Given the description of an element on the screen output the (x, y) to click on. 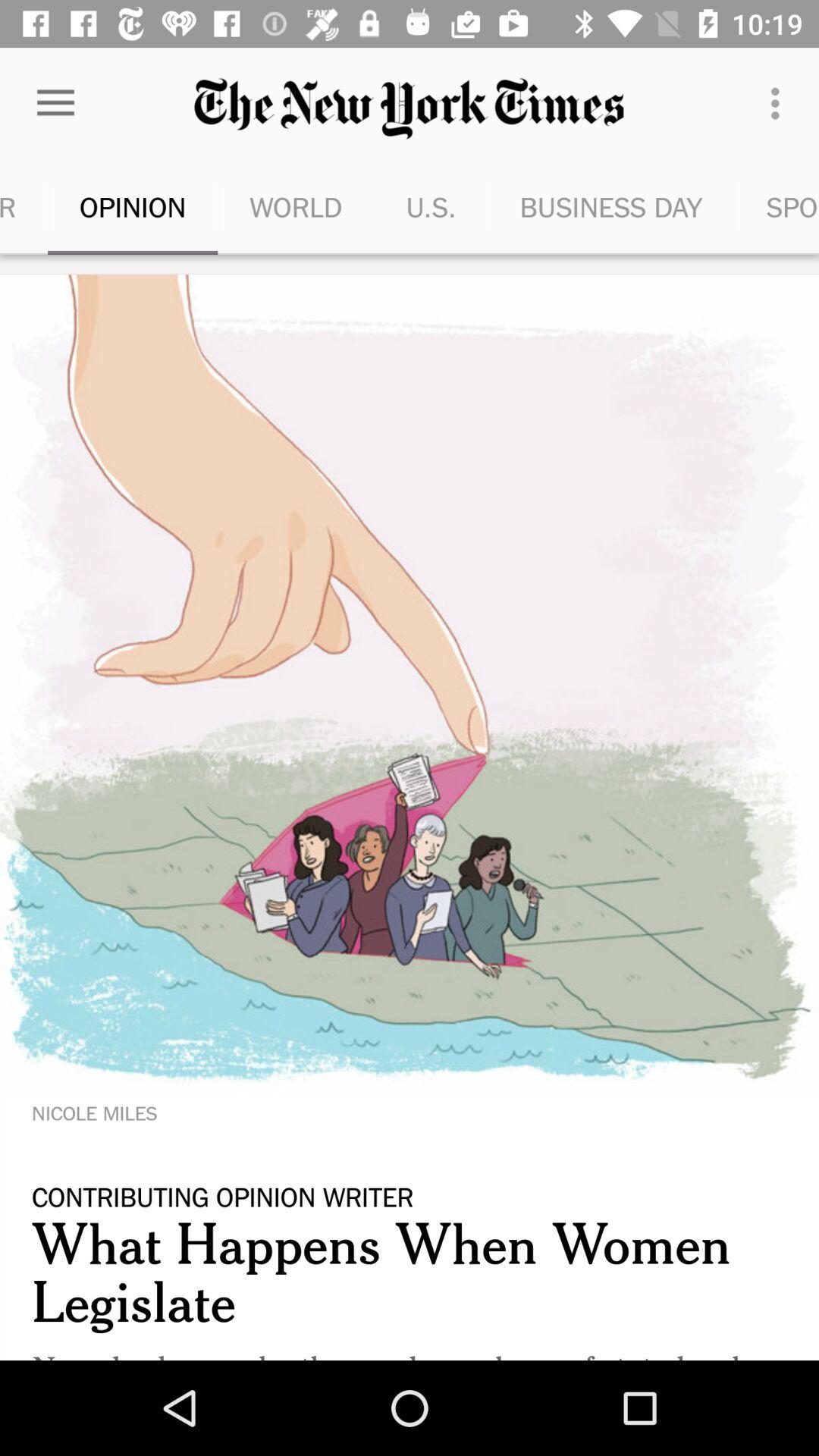
select the u.s. item (430, 206)
